Given the description of an element on the screen output the (x, y) to click on. 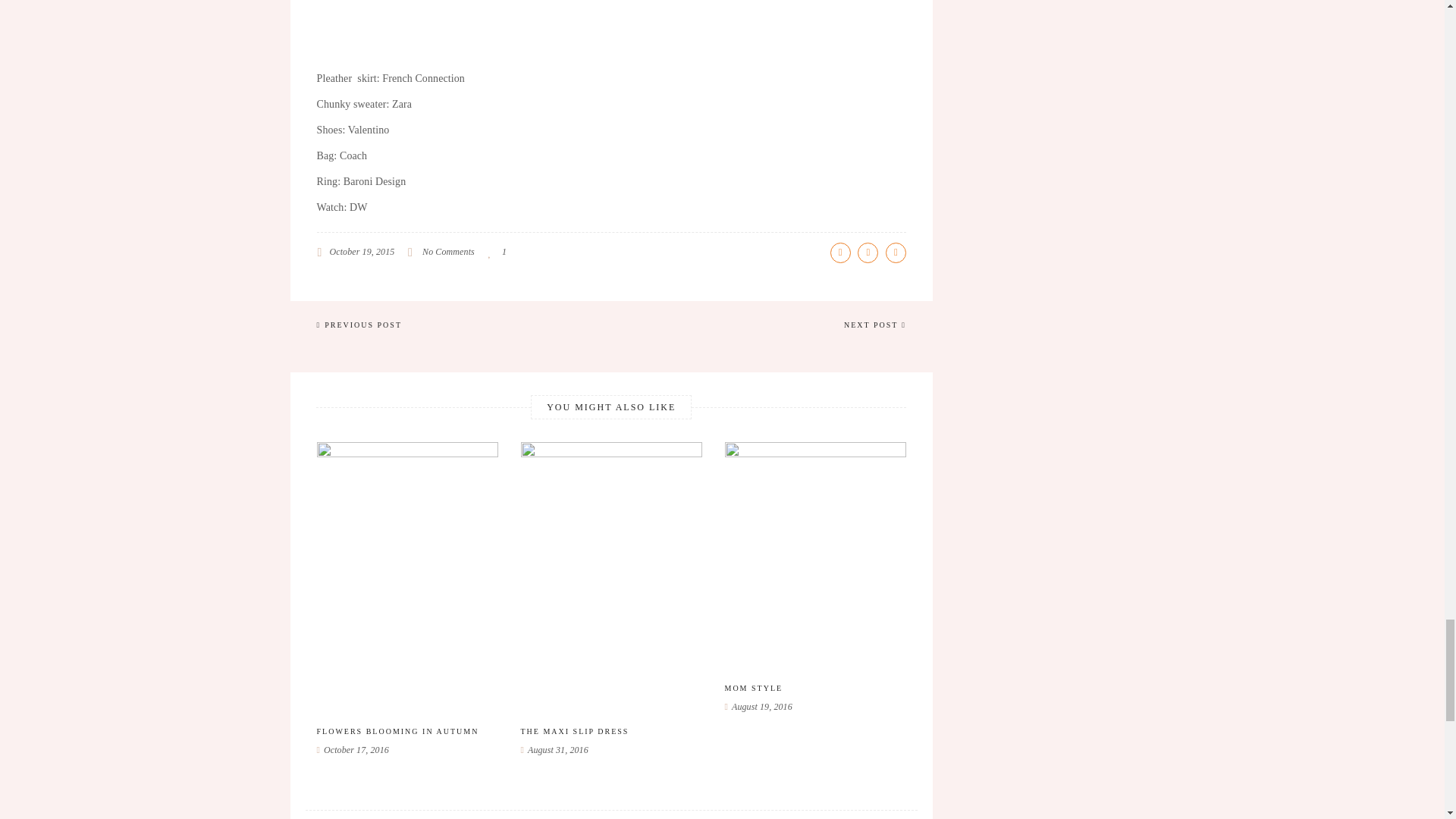
No Comments (448, 251)
1 (496, 251)
PREVIOUS POST (360, 325)
NEXT POST (874, 325)
MOM STYLE (754, 688)
THE MAXI SLIP DRESS (573, 731)
Like this (496, 251)
FLOWERS BLOOMING IN AUTUMN (398, 731)
